Given the description of an element on the screen output the (x, y) to click on. 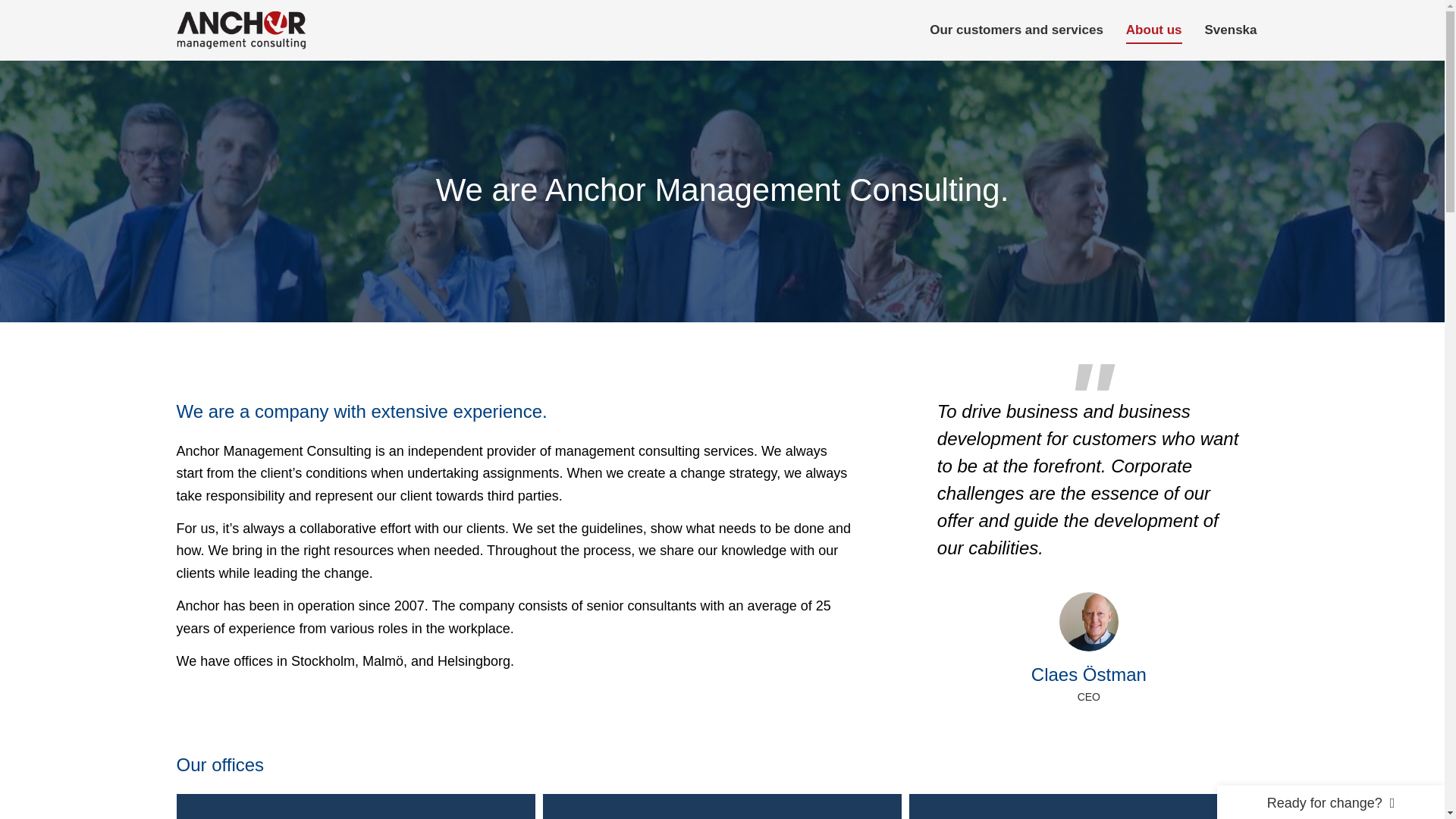
Our customers and services (1016, 30)
Svenska (1230, 30)
Svenska (1230, 30)
About us (1153, 30)
Ready for change? (1330, 802)
